Given the description of an element on the screen output the (x, y) to click on. 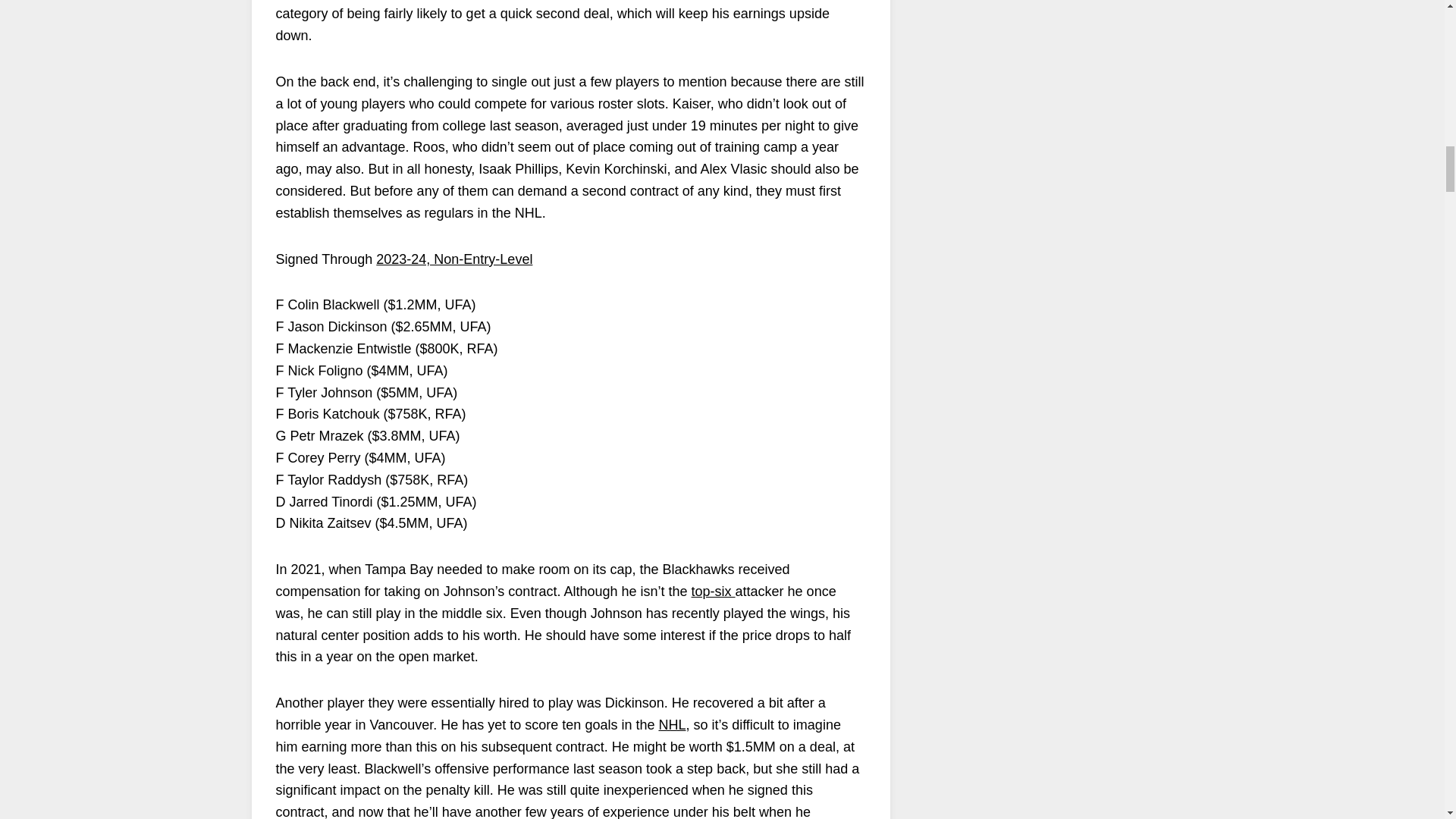
2023-24, Non-Entry-Level (453, 258)
